Given the description of an element on the screen output the (x, y) to click on. 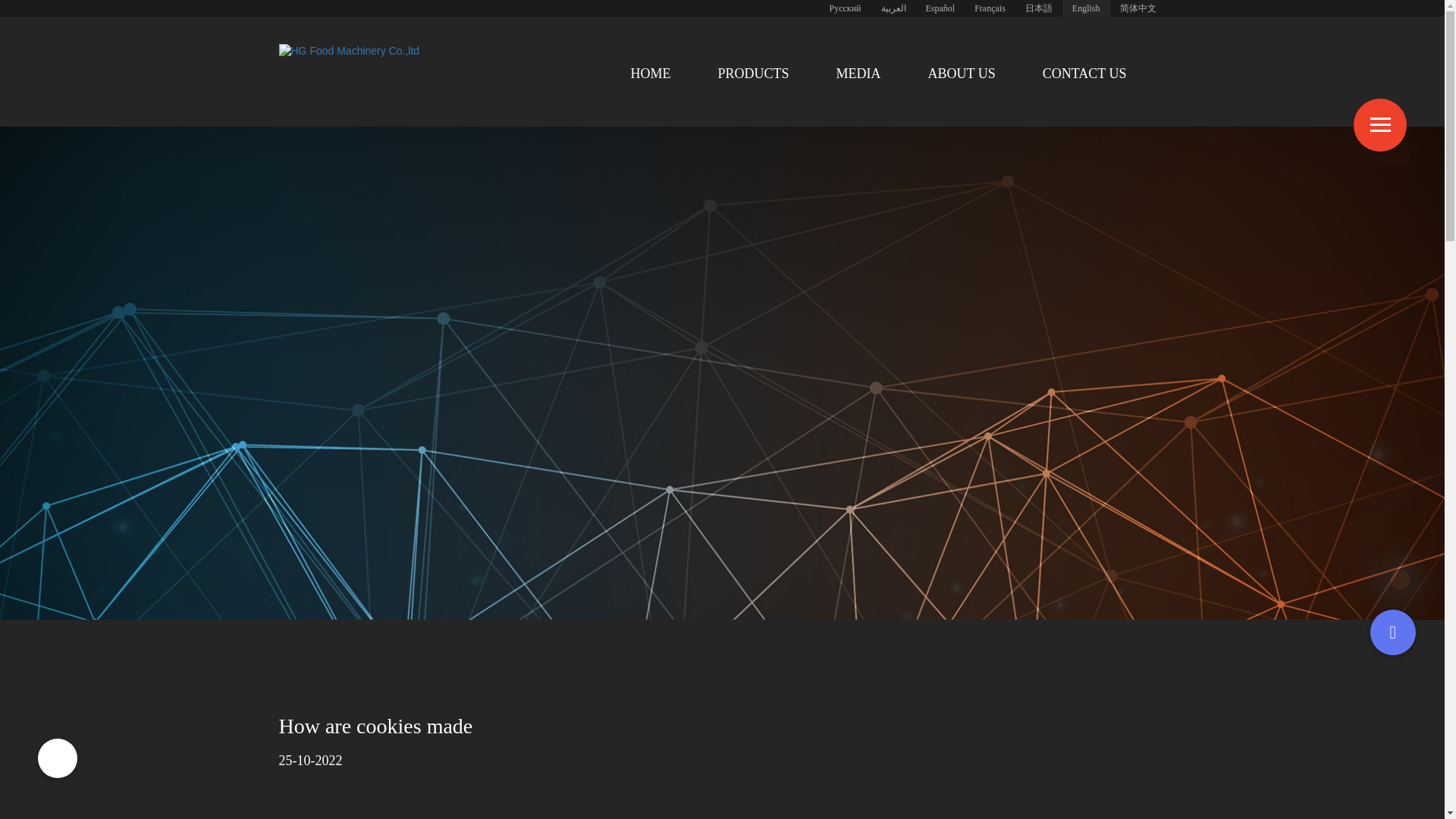
English (1085, 8)
